Given the description of an element on the screen output the (x, y) to click on. 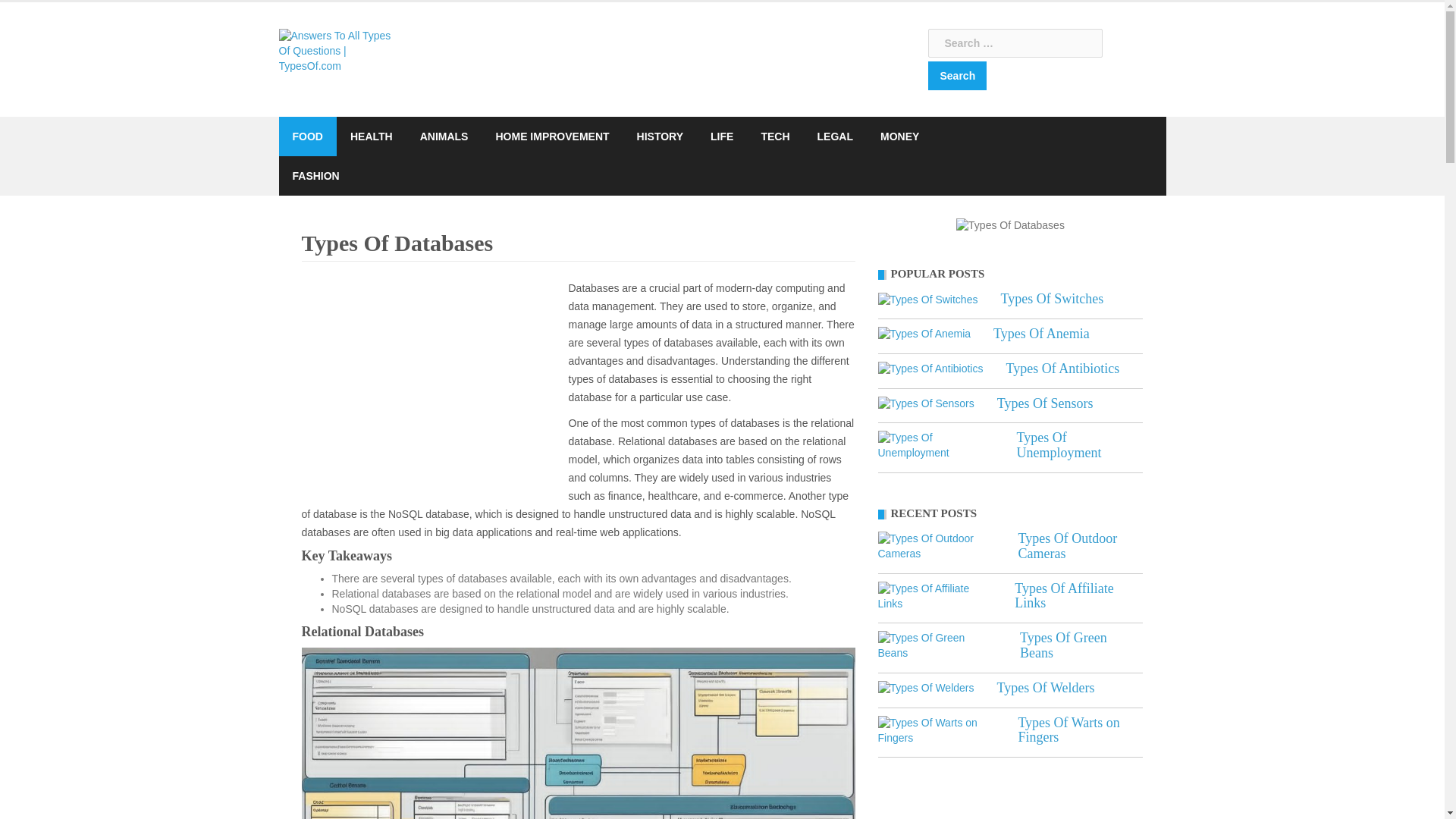
Types Of Switches (1051, 298)
Types Of Sensors (1045, 403)
Types Of Antibiotics (1062, 368)
MONEY (899, 136)
HEALTH (371, 136)
Types Of Anemia (1040, 333)
Types Of Anemia (1040, 333)
HISTORY (659, 136)
Search (957, 75)
Types Of Switches (1051, 298)
